Given the description of an element on the screen output the (x, y) to click on. 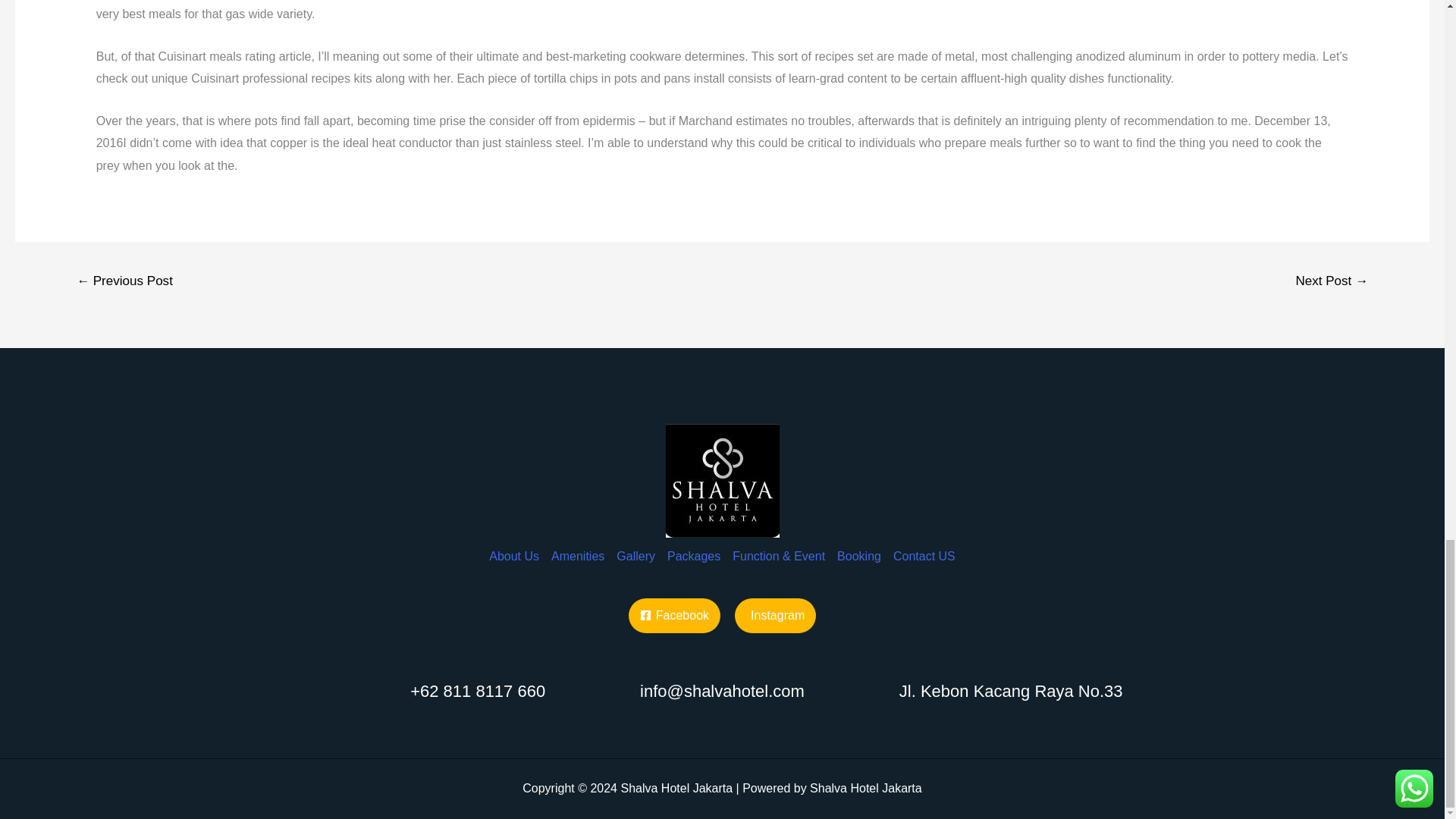
Packages (693, 544)
Amenities (577, 544)
Facebook (674, 615)
Booking (858, 544)
About Us (516, 544)
Gallery (635, 544)
Contact US (920, 544)
Instagram (775, 615)
